Given the description of an element on the screen output the (x, y) to click on. 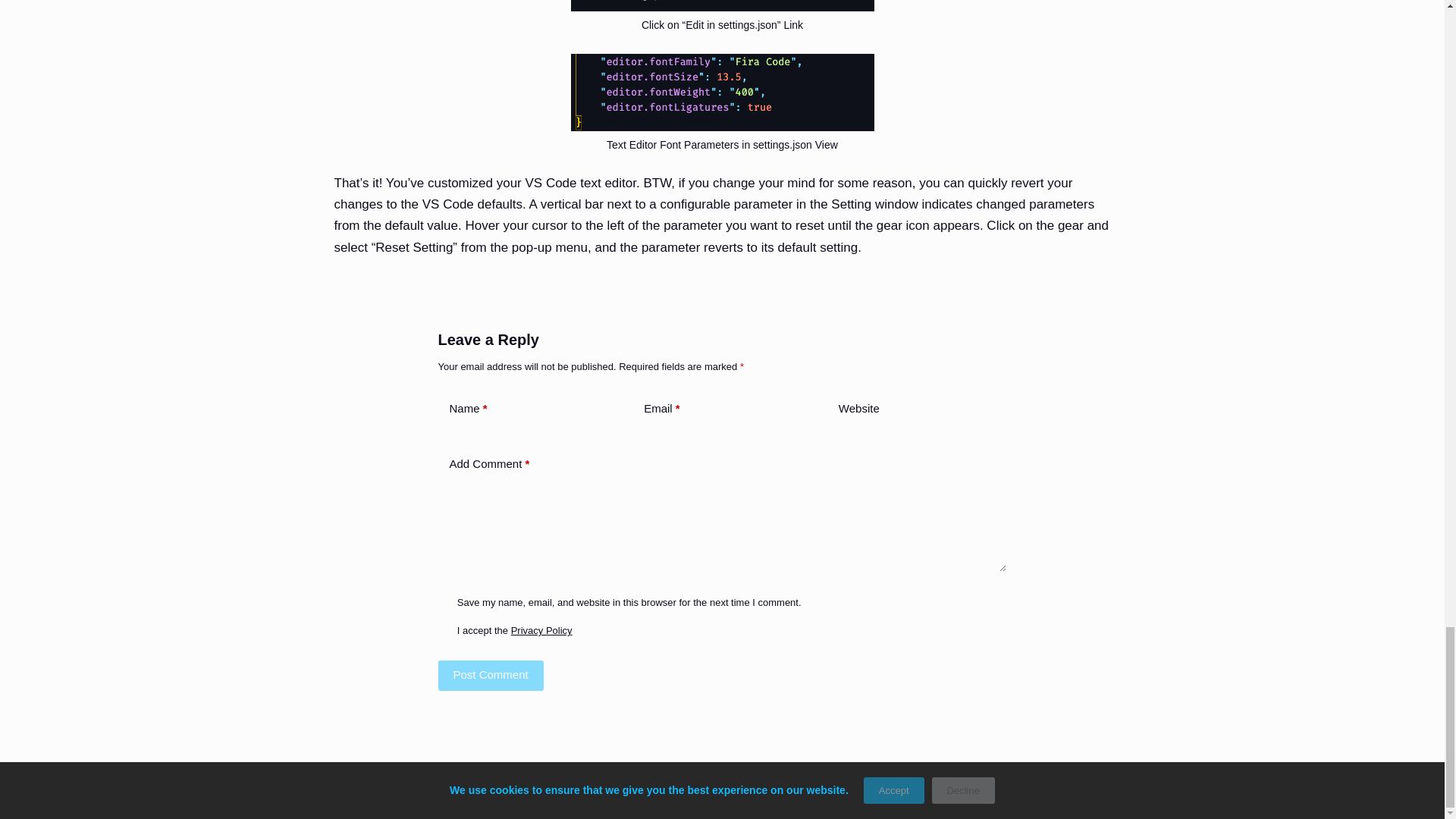
yes (443, 602)
Post Comment (490, 675)
Privacy Policy (541, 630)
on (443, 630)
